Given the description of an element on the screen output the (x, y) to click on. 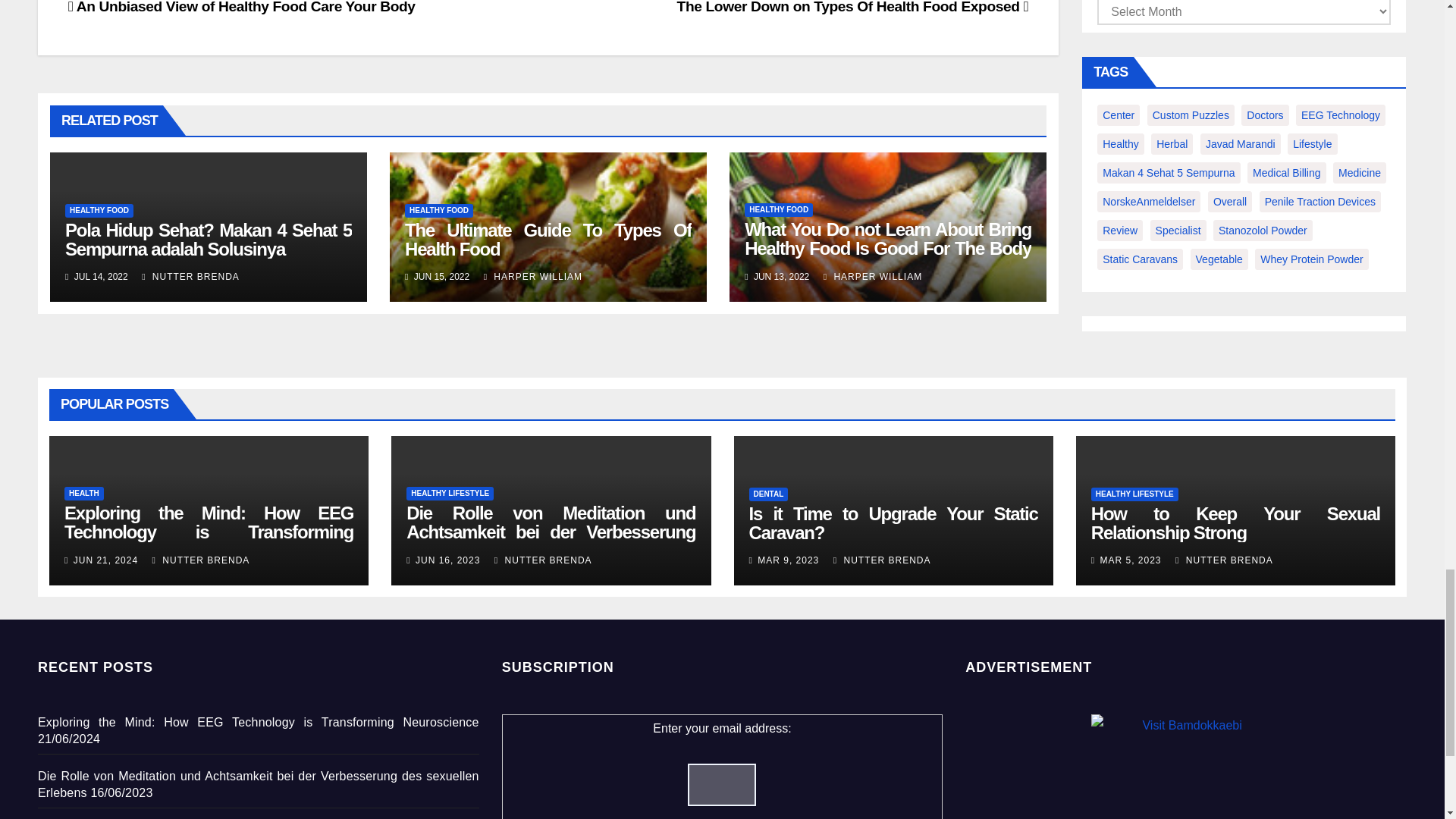
HARPER WILLIAM (532, 276)
NUTTER BRENDA (190, 276)
HEALTHY FOOD (778, 210)
The Lower Down on Types Of Health Food Exposed (853, 7)
Permalink to: The Ultimate Guide To Types Of Health Food (547, 239)
The Ultimate Guide To Types Of Health Food (547, 239)
Permalink to: Is it Time to Upgrade Your Static Caravan? (893, 522)
An Unbiased View of Healthy Food Care Your Body (241, 7)
HEALTHY FOOD (438, 210)
Pola Hidup Sehat? Makan 4 Sehat 5 Sempurna adalah Solusinya (208, 239)
HARPER WILLIAM (872, 276)
